Given the description of an element on the screen output the (x, y) to click on. 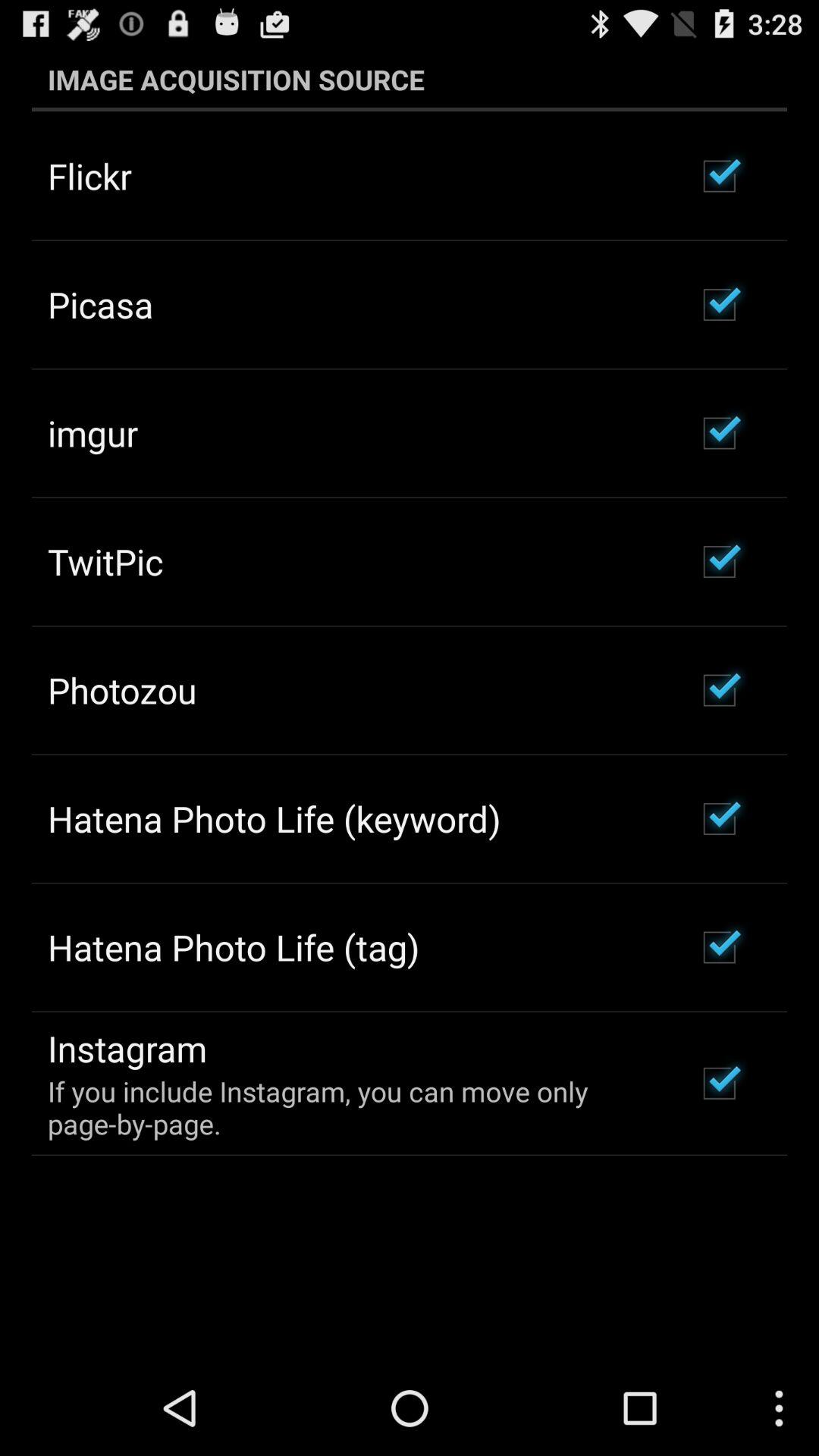
swipe to image acquisition source (409, 79)
